Given the description of an element on the screen output the (x, y) to click on. 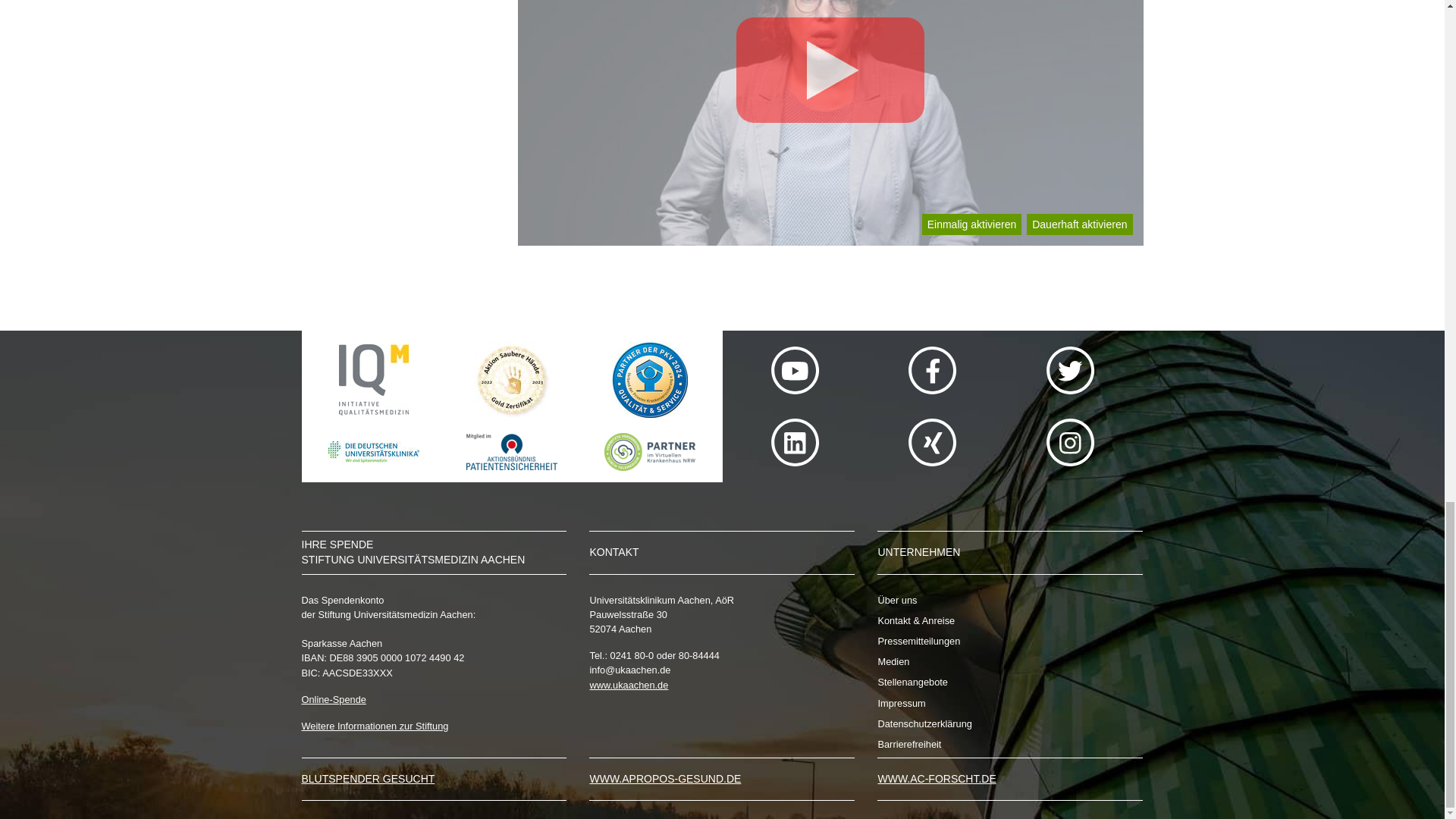
Medien (1009, 661)
Stellenangebote (1009, 681)
Barrierefreiheit (1009, 744)
Impressum (1009, 703)
Pressemitteilungen (1009, 640)
